Given the description of an element on the screen output the (x, y) to click on. 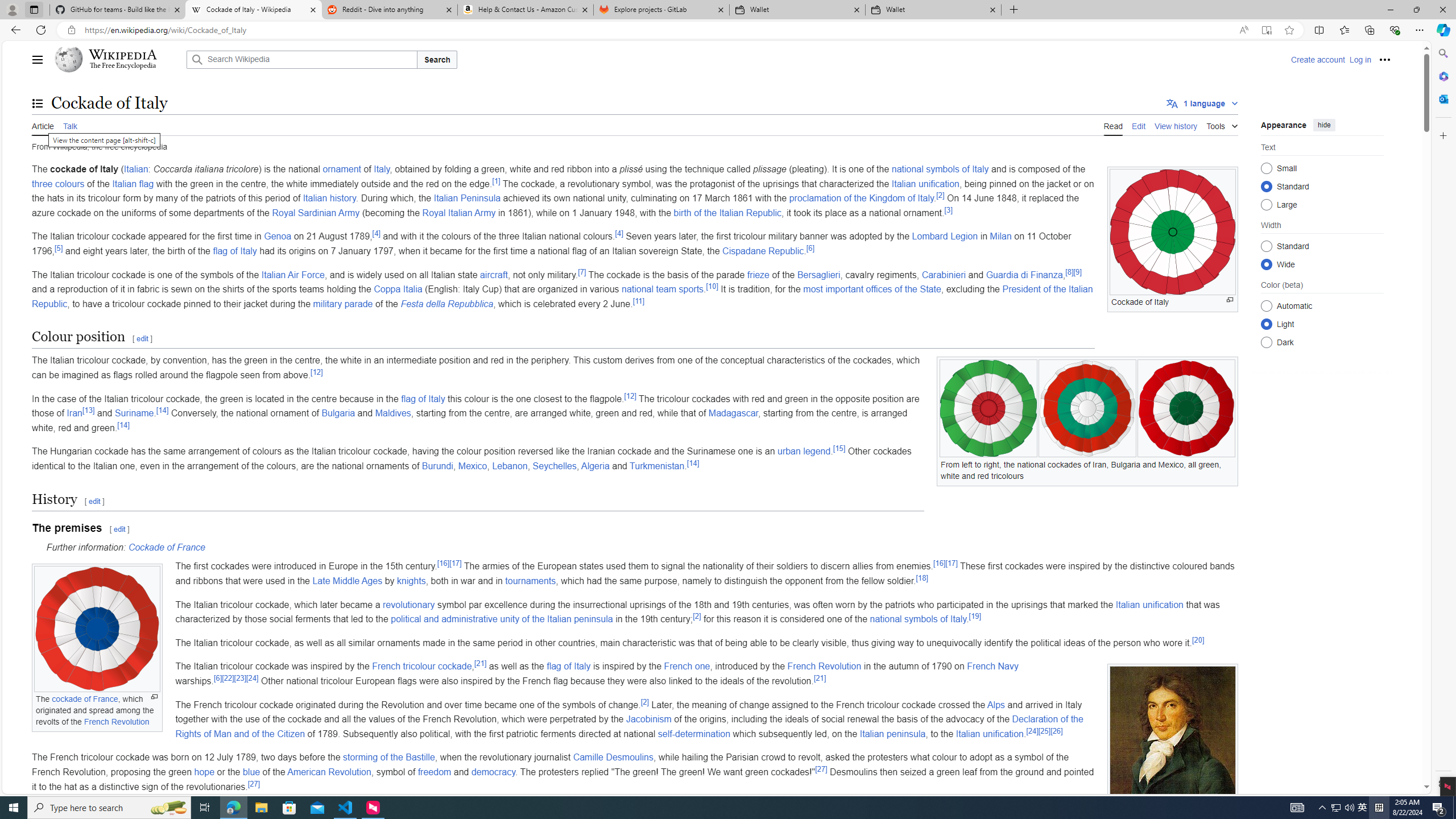
Genoa (277, 236)
self-determination (694, 733)
Royal Italian Army (459, 212)
proclamation of the Kingdom of Italy (861, 198)
Bulgaria (338, 413)
Main menu (37, 59)
Royal Sardinian Army (315, 212)
Camille Desmoulins (612, 757)
The Free Encyclopedia (121, 65)
View history (1176, 124)
revolutionary (408, 604)
